Given the description of an element on the screen output the (x, y) to click on. 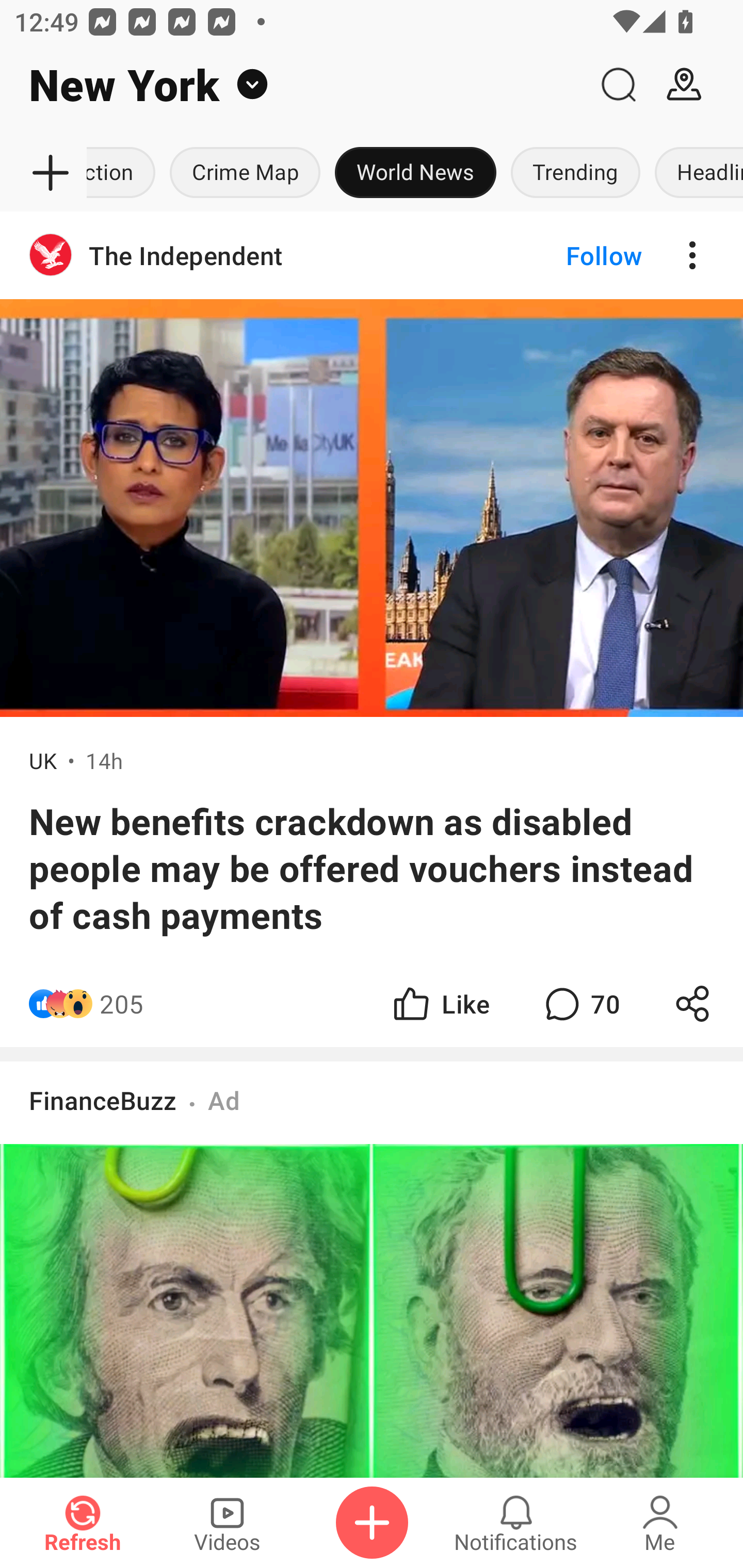
New York (292, 84)
Election (124, 172)
Crime Map (244, 172)
World News (415, 172)
Trending (575, 172)
Headlines (695, 172)
The Independent Follow (371, 255)
Follow (569, 255)
205 (121, 1003)
Like (439, 1003)
70 (579, 1003)
FinanceBuzz (102, 1099)
Videos (227, 1522)
Notifications (516, 1522)
Me (659, 1522)
